Given the description of an element on the screen output the (x, y) to click on. 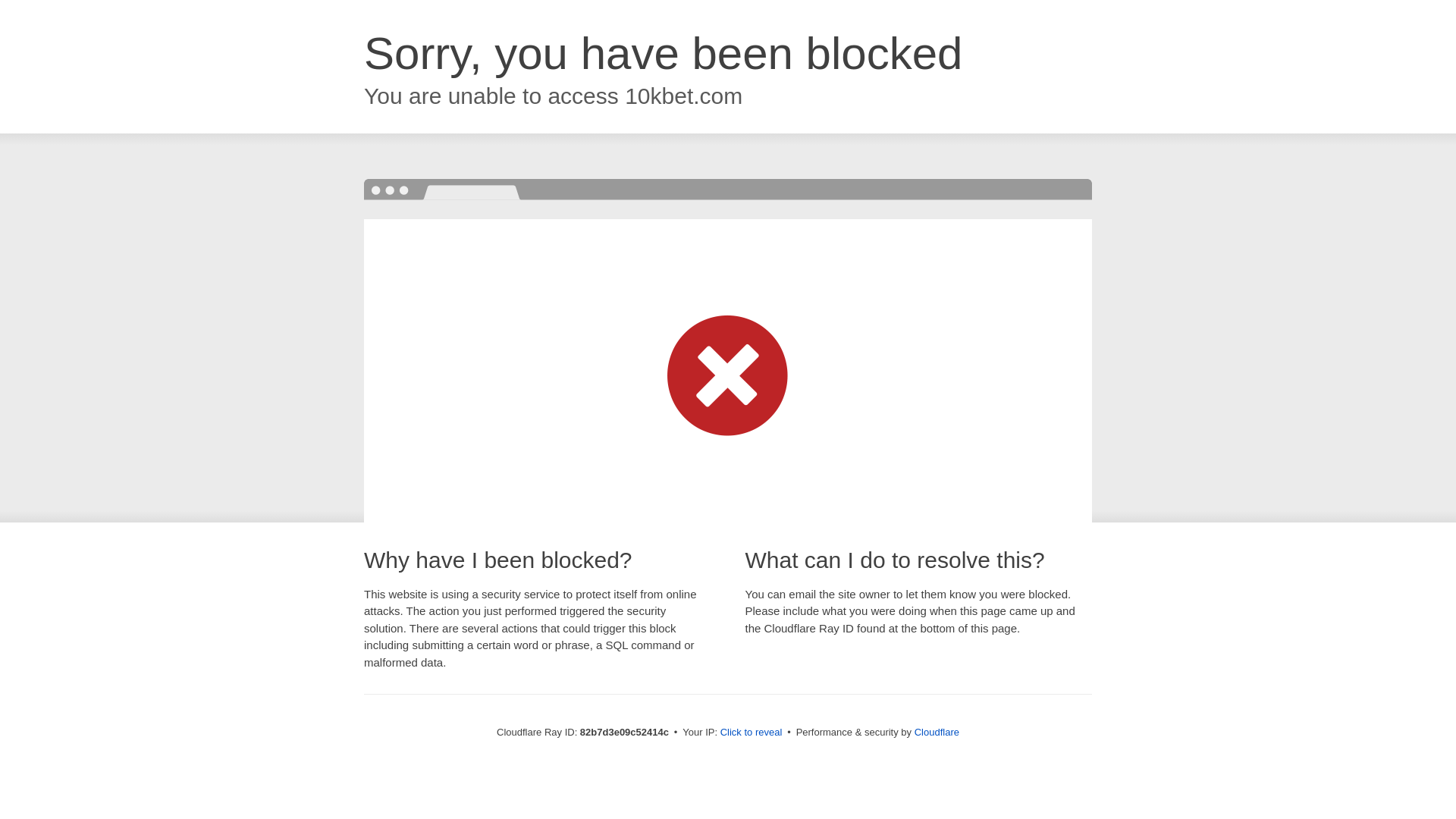
Click to reveal Element type: text (751, 732)
Cloudflare Element type: text (936, 731)
